Given the description of an element on the screen output the (x, y) to click on. 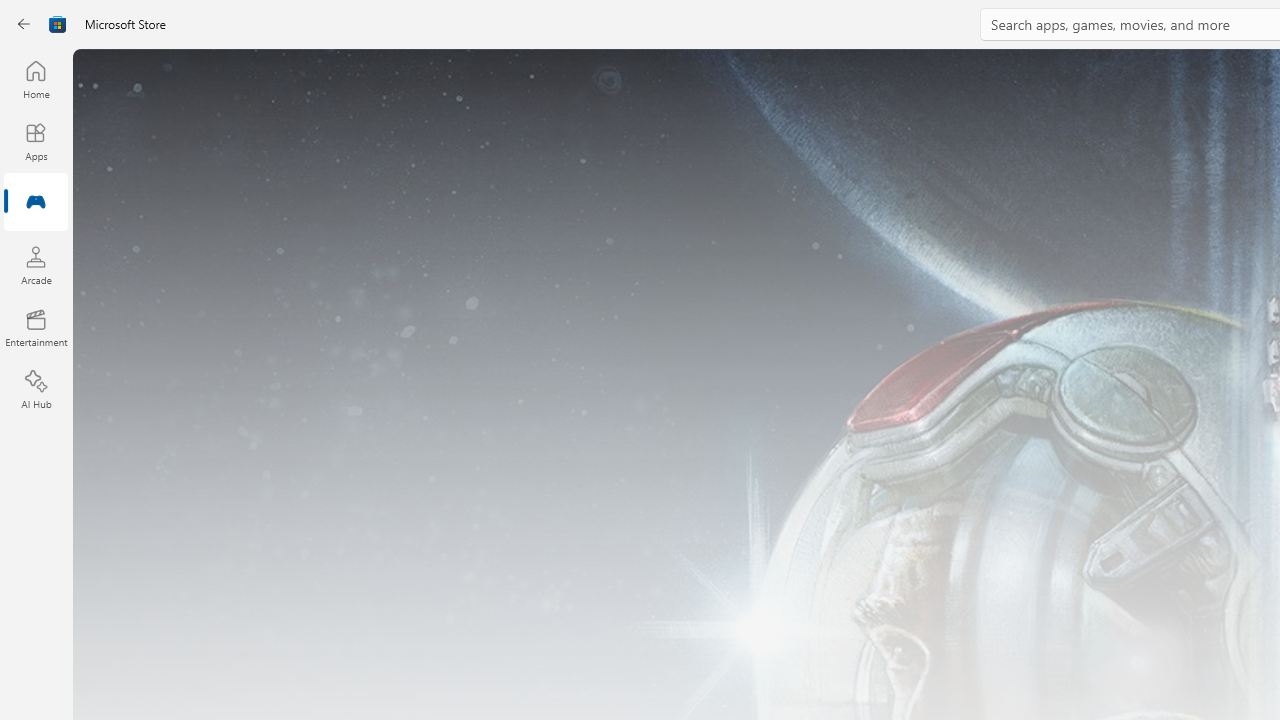
Back (24, 24)
Arcade (35, 265)
Gaming (35, 203)
AI Hub (35, 390)
Apps (35, 141)
Entertainment (35, 327)
Home (35, 79)
Class: Image (58, 24)
